Given the description of an element on the screen output the (x, y) to click on. 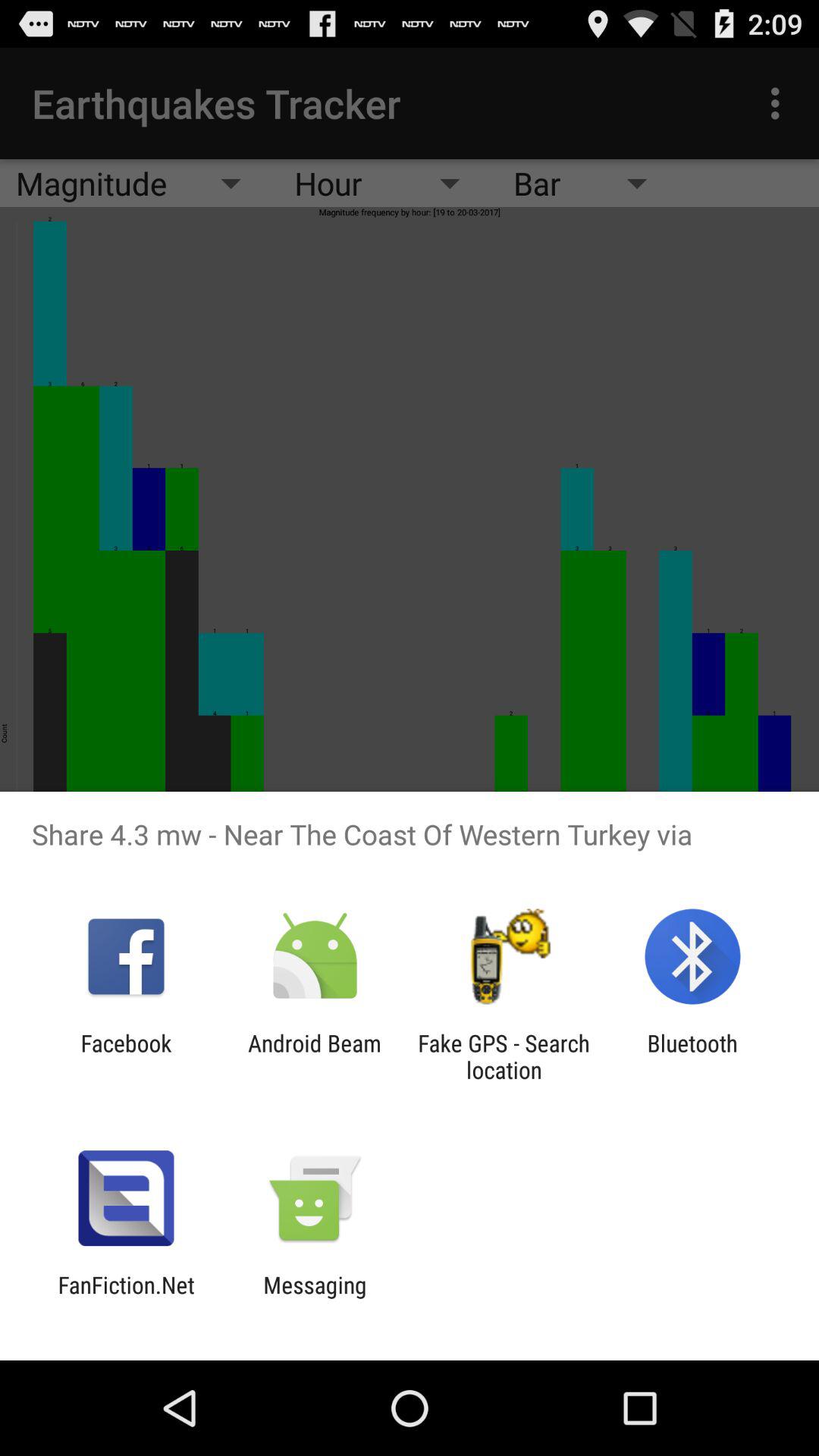
click app to the left of android beam icon (125, 1056)
